Given the description of an element on the screen output the (x, y) to click on. 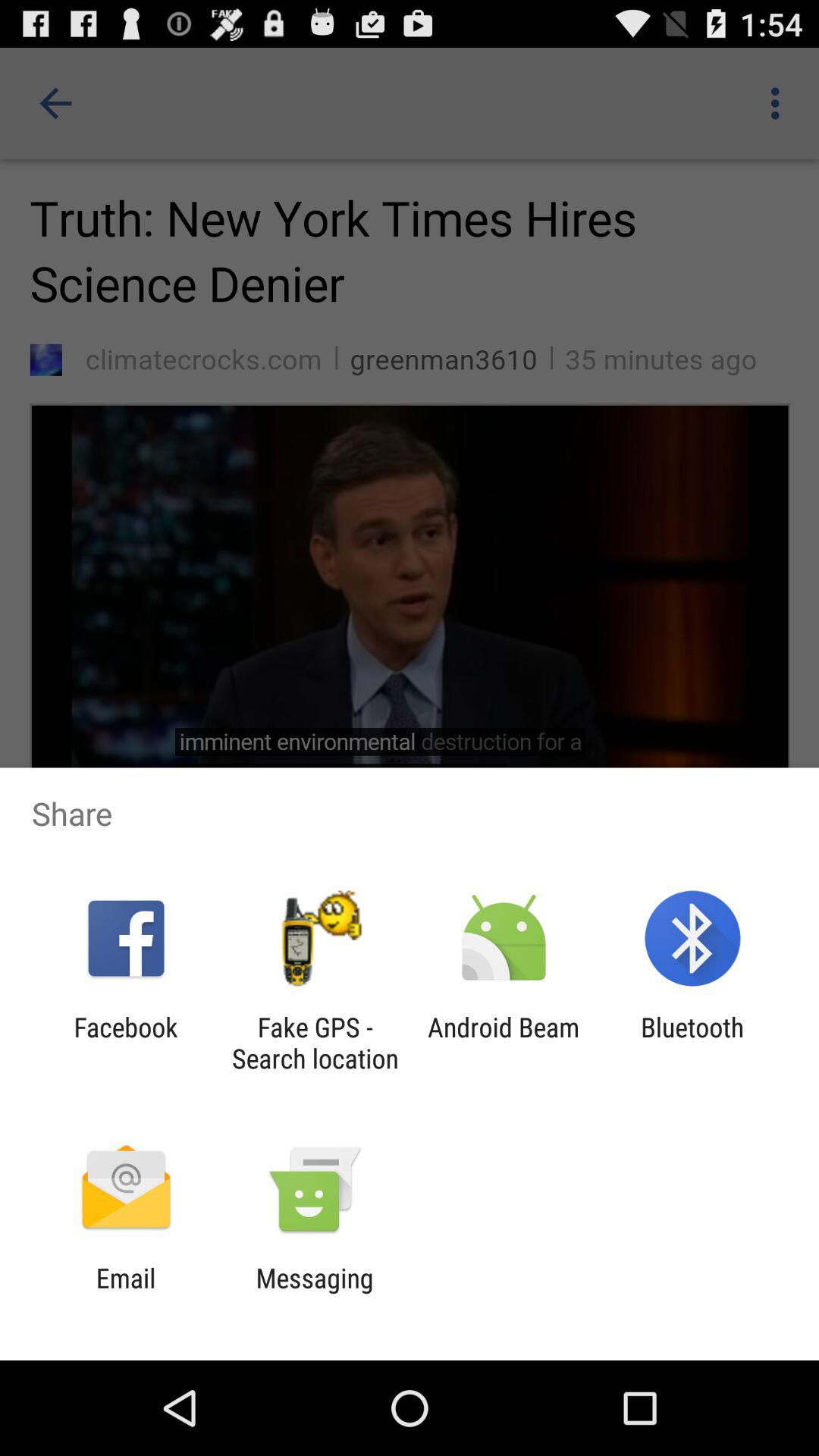
click item next to the android beam app (691, 1042)
